Given the description of an element on the screen output the (x, y) to click on. 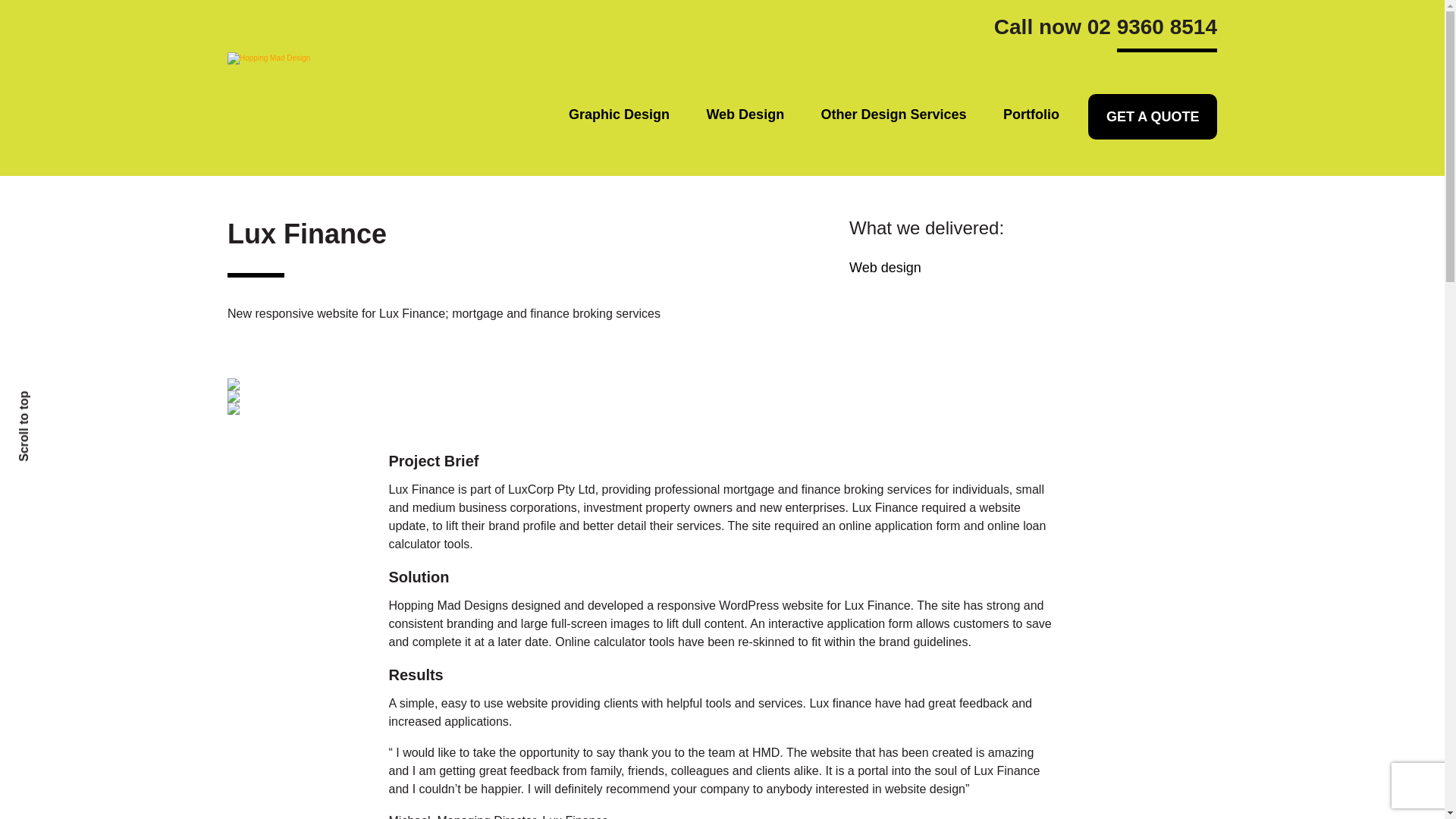
Web design (884, 267)
Submit (345, 619)
Call now 02 9360 8514 (1105, 31)
Graphic Design (619, 114)
Hopping Mad Design (379, 58)
Other Design Services (893, 114)
Portfolio (1031, 114)
GET A QUOTE (1151, 116)
Web Design (745, 114)
